Given the description of an element on the screen output the (x, y) to click on. 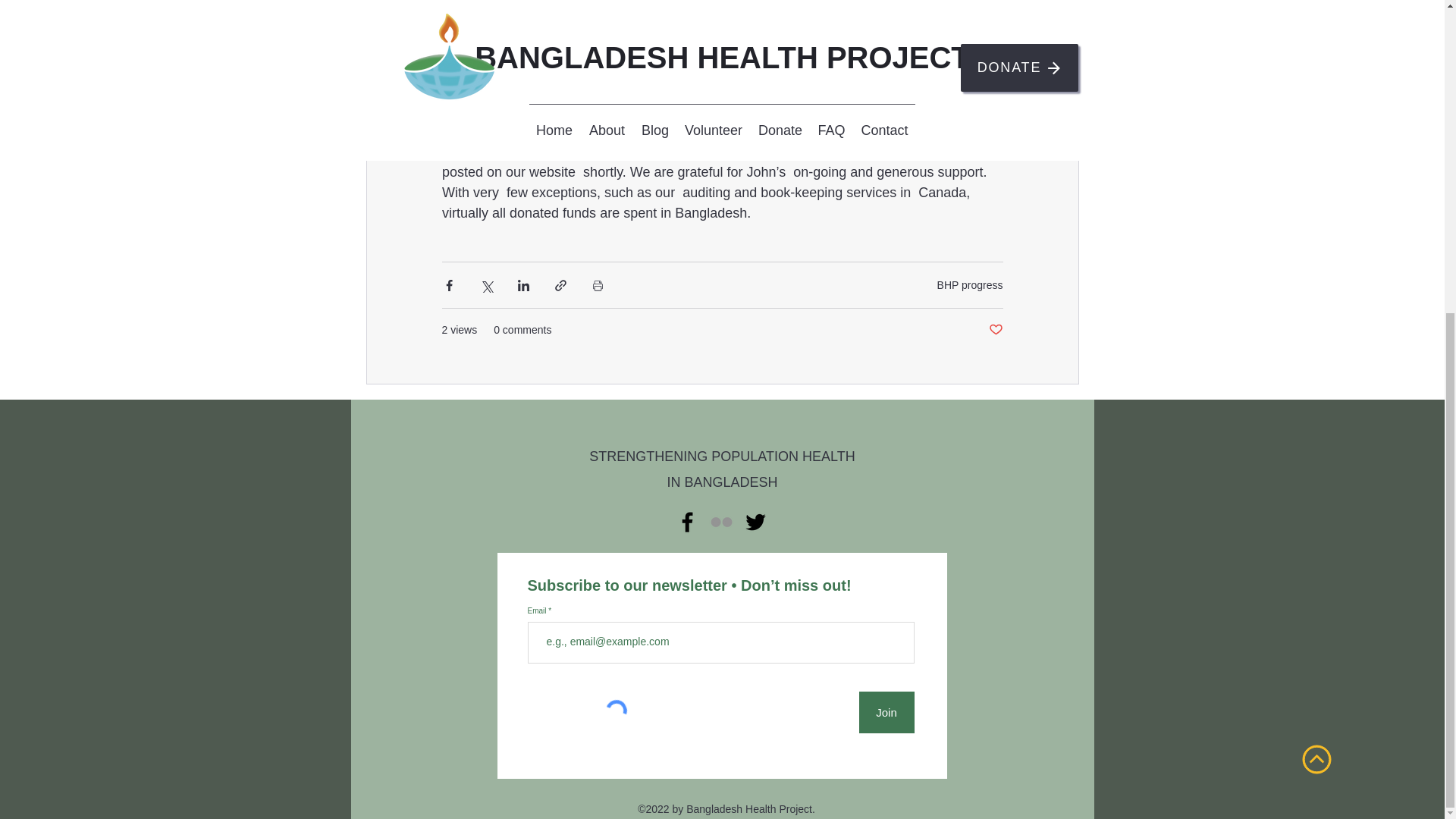
Post not marked as liked (995, 330)
Join (886, 712)
BHP progress (970, 285)
